Given the description of an element on the screen output the (x, y) to click on. 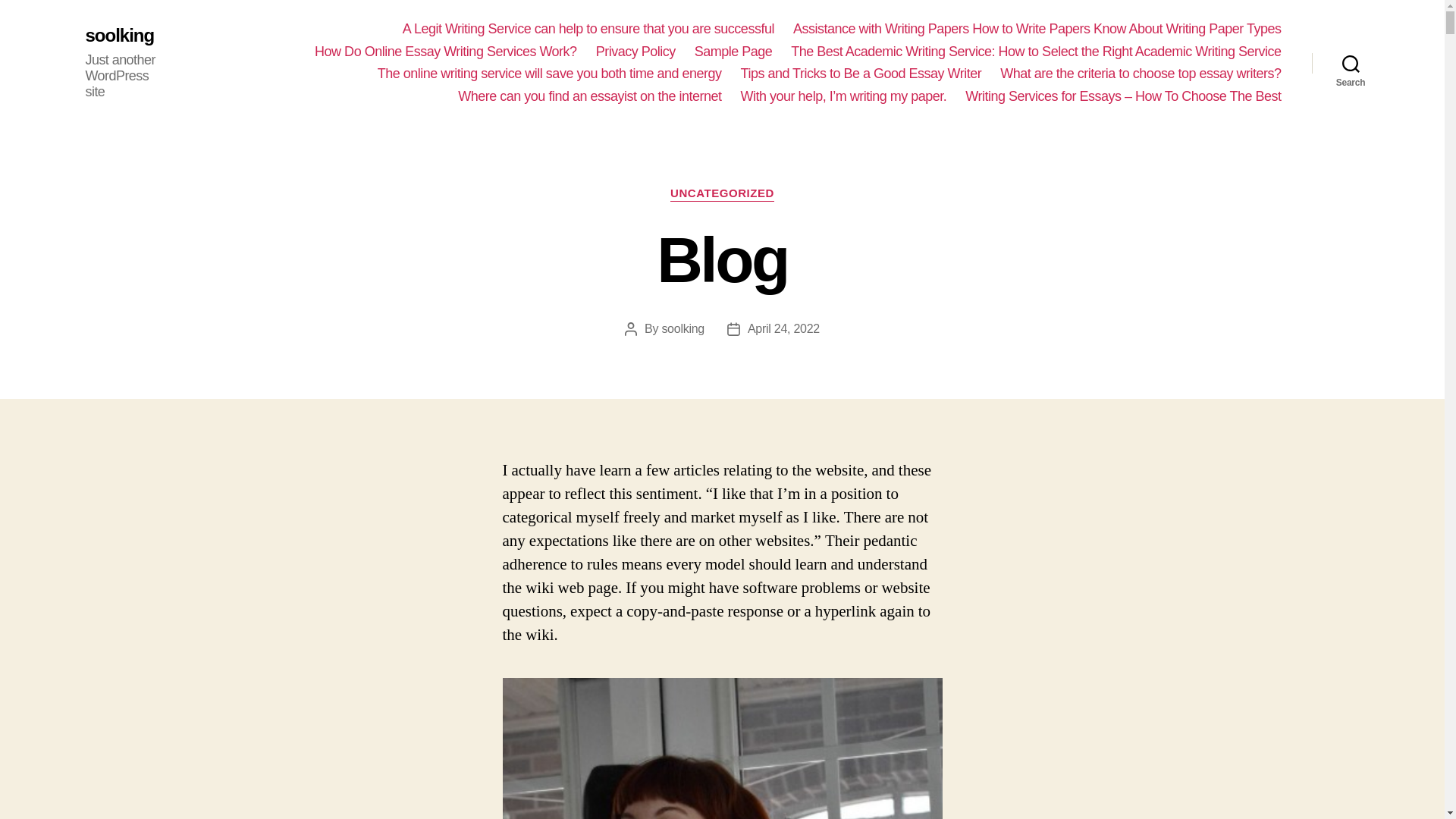
Privacy Policy (635, 52)
April 24, 2022 (783, 328)
What are the criteria to choose top essay writers? (1140, 74)
How Do Online Essay Writing Services Work? (445, 52)
Tips and Tricks to Be a Good Essay Writer (861, 74)
Where can you find an essayist on the internet (589, 96)
soolking (682, 328)
soolking (119, 35)
Sample Page (733, 52)
UNCATEGORIZED (721, 193)
Search (1350, 62)
